Given the description of an element on the screen output the (x, y) to click on. 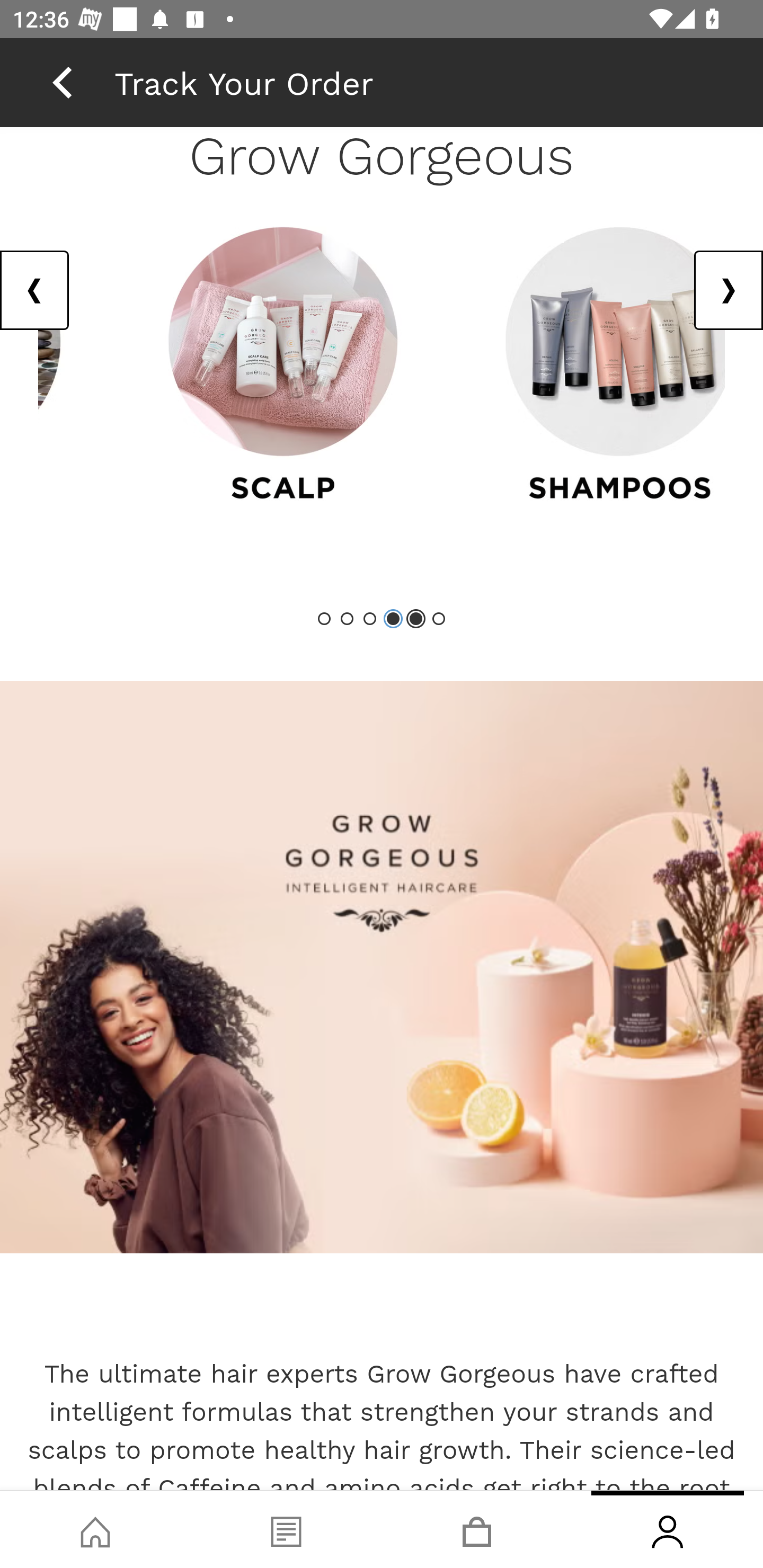
back (61, 82)
Previous (35, 289)
Next (727, 289)
Slide 1 (324, 618)
Slide 2 (347, 618)
Slide 3 (369, 618)
Showing Slide 4 (Current Item) (393, 618)
Showing Slide 5 (Current Item) (415, 618)
Slide 6 (437, 618)
Shop Grow Gorgeous (381, 967)
Shop, tab, 1 of 4 (95, 1529)
Blog, tab, 2 of 4 (285, 1529)
Basket, tab, 3 of 4 (476, 1529)
Account, tab, 4 of 4 (667, 1529)
